Given the description of an element on the screen output the (x, y) to click on. 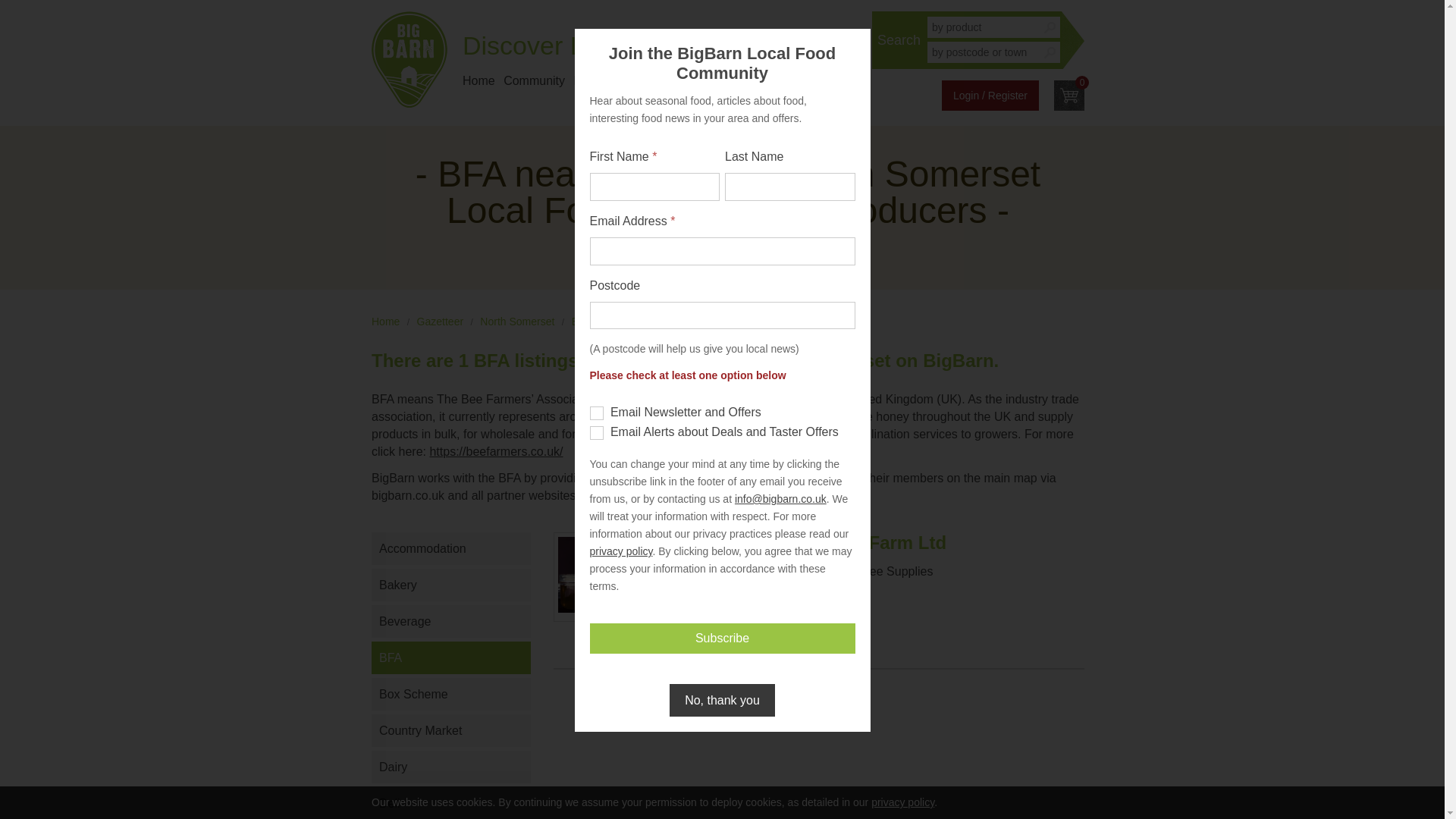
Home (384, 321)
Local Food Map (617, 80)
Twitter (777, 45)
Instagram (746, 45)
Community (533, 80)
Facebook (807, 45)
Big Barn (408, 59)
Marketplace (702, 80)
Blog (756, 80)
About (793, 80)
Email Newsletter and Offers (596, 413)
More (830, 80)
Home (479, 80)
Email Alerts about Deals and Taster Offers (596, 432)
privacy policy (902, 802)
